Given the description of an element on the screen output the (x, y) to click on. 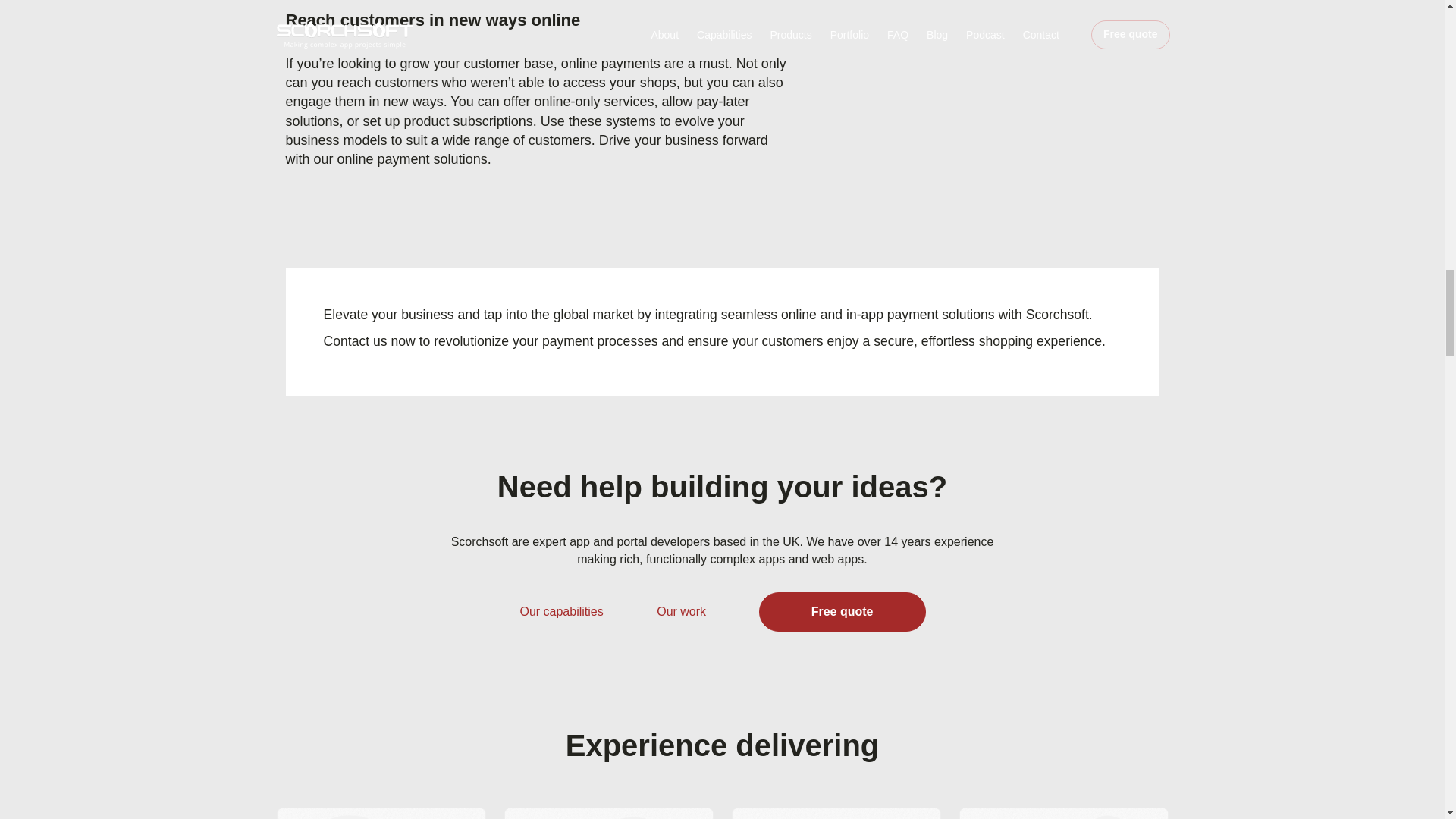
Contact us now (368, 340)
Our work (681, 611)
Free quote (842, 611)
Our capabilities (561, 611)
